Given the description of an element on the screen output the (x, y) to click on. 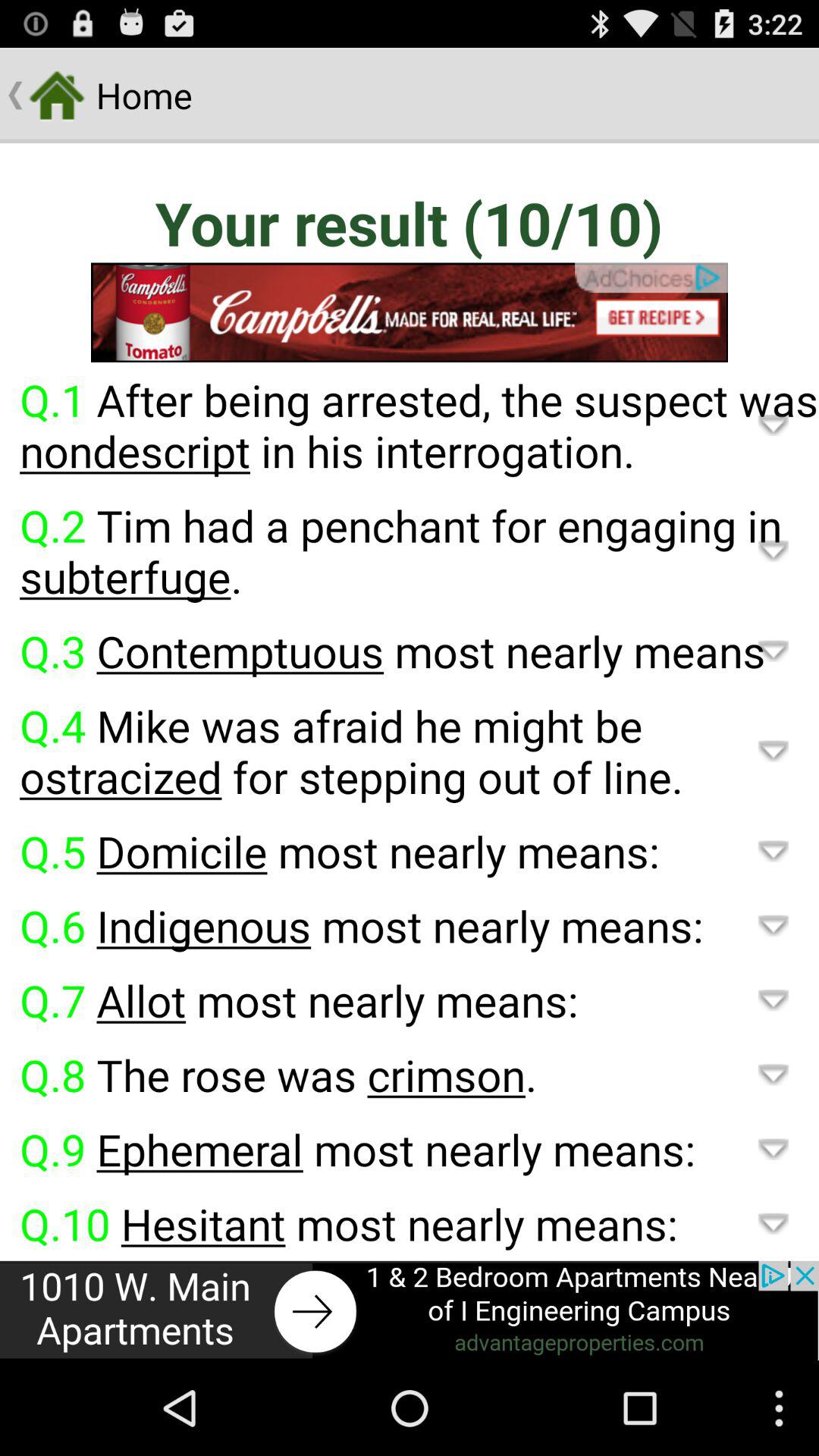
clickable advertisement (409, 312)
